Given the description of an element on the screen output the (x, y) to click on. 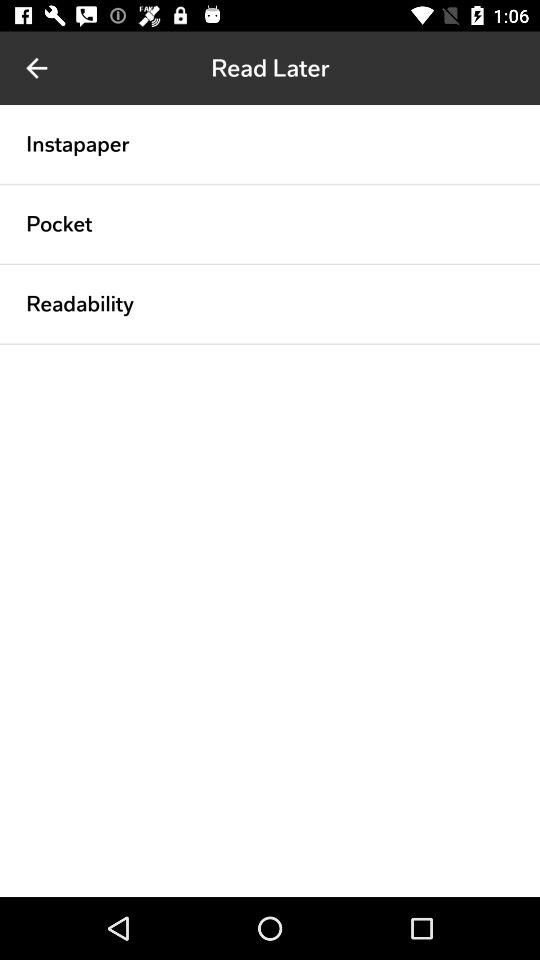
jump until readability icon (79, 303)
